Given the description of an element on the screen output the (x, y) to click on. 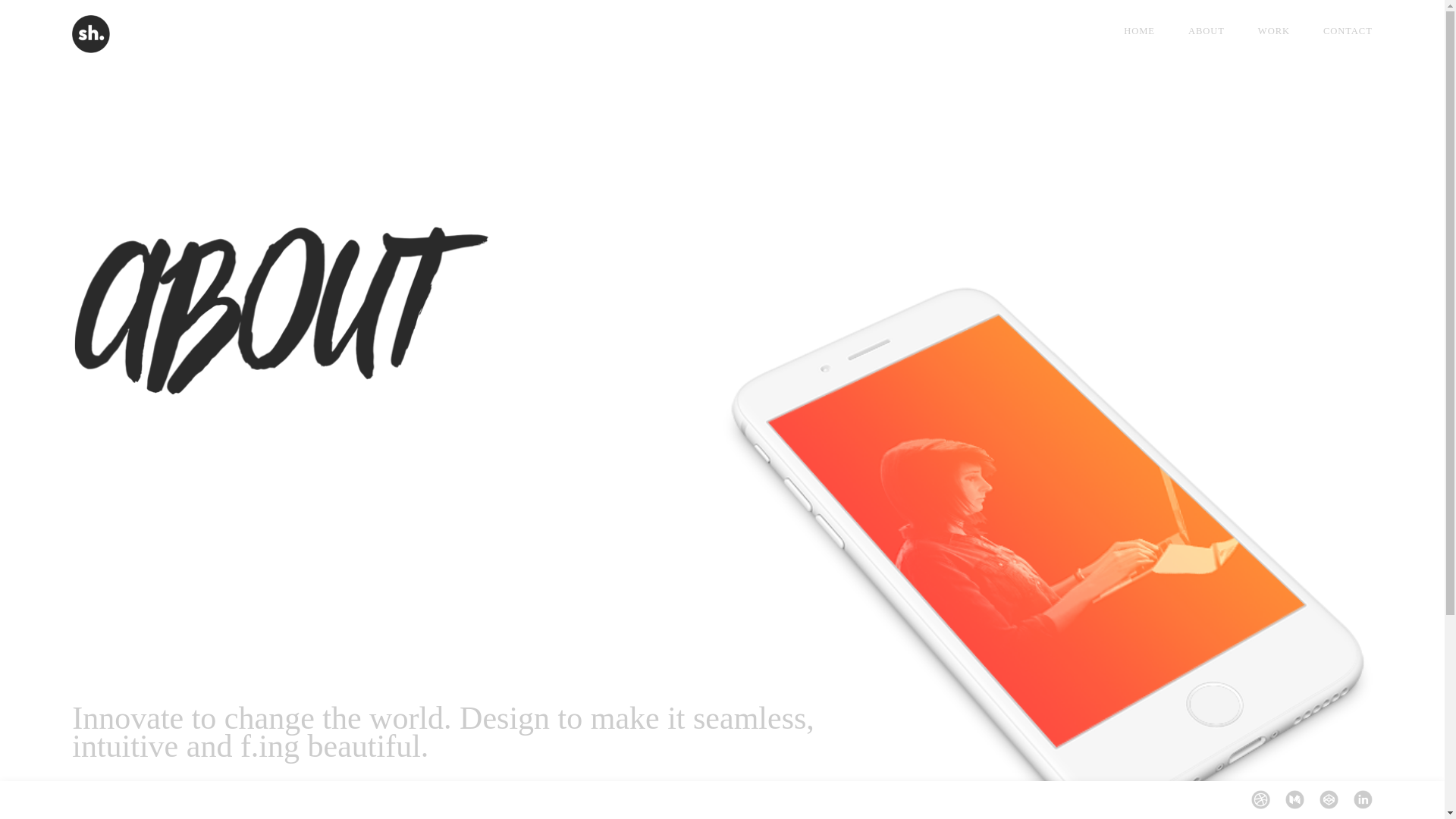
ABOUT (1206, 30)
CONTACT (1340, 30)
HOME (1139, 30)
WORK (1273, 30)
